Given the description of an element on the screen output the (x, y) to click on. 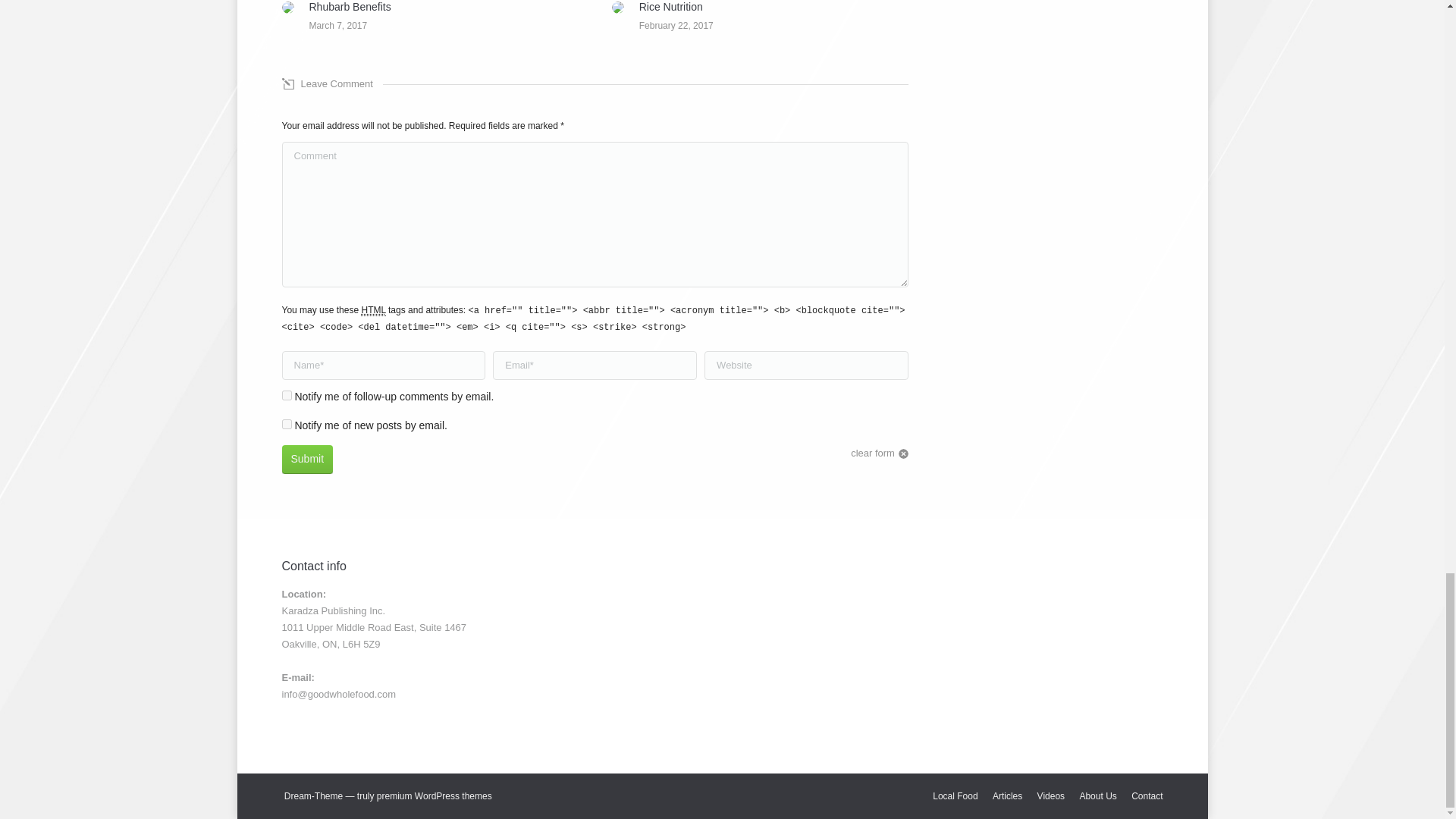
HyperText Markup Language (373, 310)
subscribe (287, 424)
subscribe (287, 395)
